Given the description of an element on the screen output the (x, y) to click on. 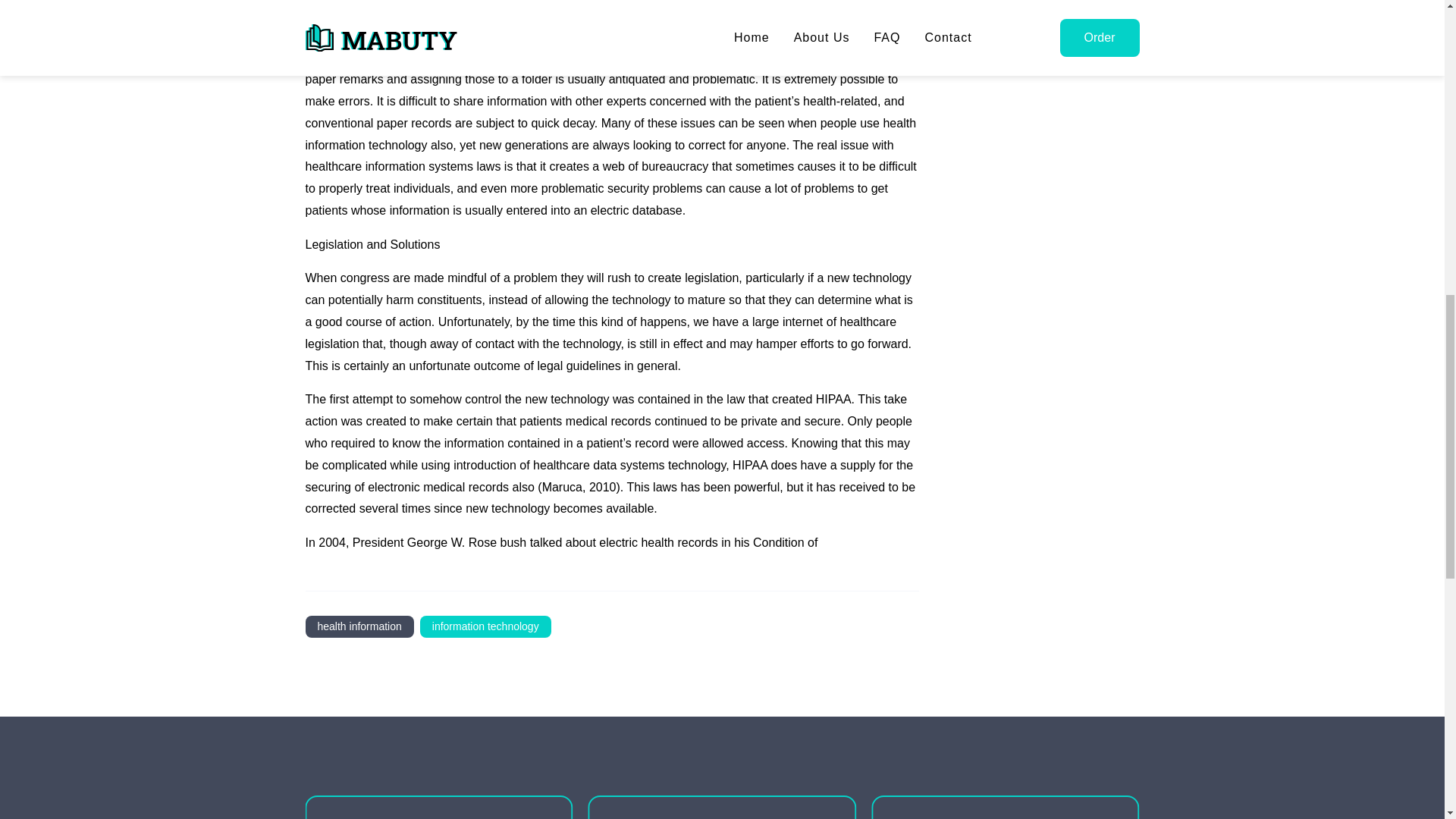
health information (358, 626)
information technology (485, 626)
